Given the description of an element on the screen output the (x, y) to click on. 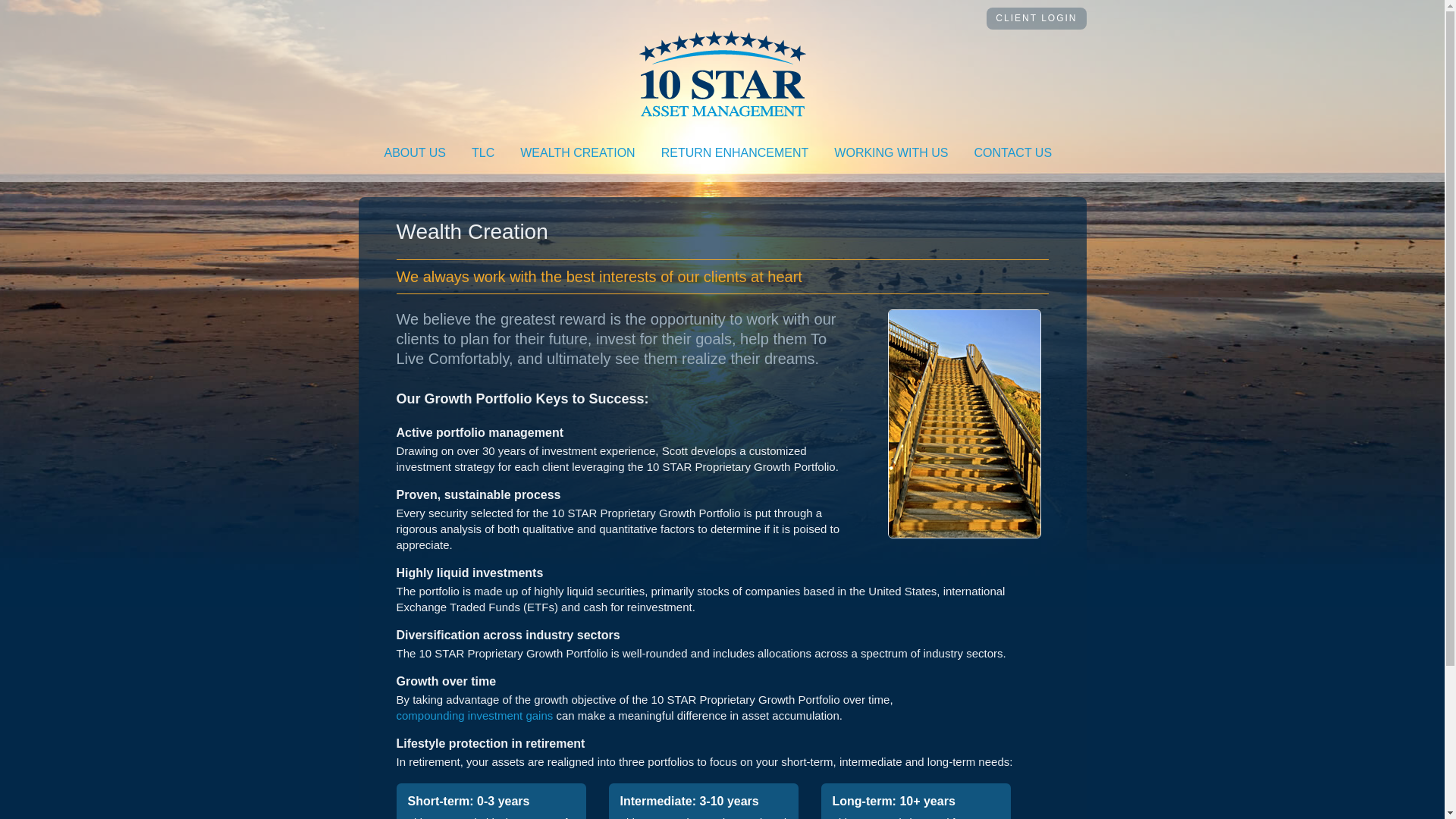
ABOUT US Element type: text (415, 152)
TLC Element type: text (482, 152)
compounding investment gains Element type: text (473, 715)
WORKING WITH US Element type: text (890, 152)
WEALTH CREATION Element type: text (577, 152)
CONTACT US Element type: text (1013, 152)
RETURN ENHANCEMENT Element type: text (734, 152)
CLIENT LOGIN Element type: text (1035, 18)
